Given the description of an element on the screen output the (x, y) to click on. 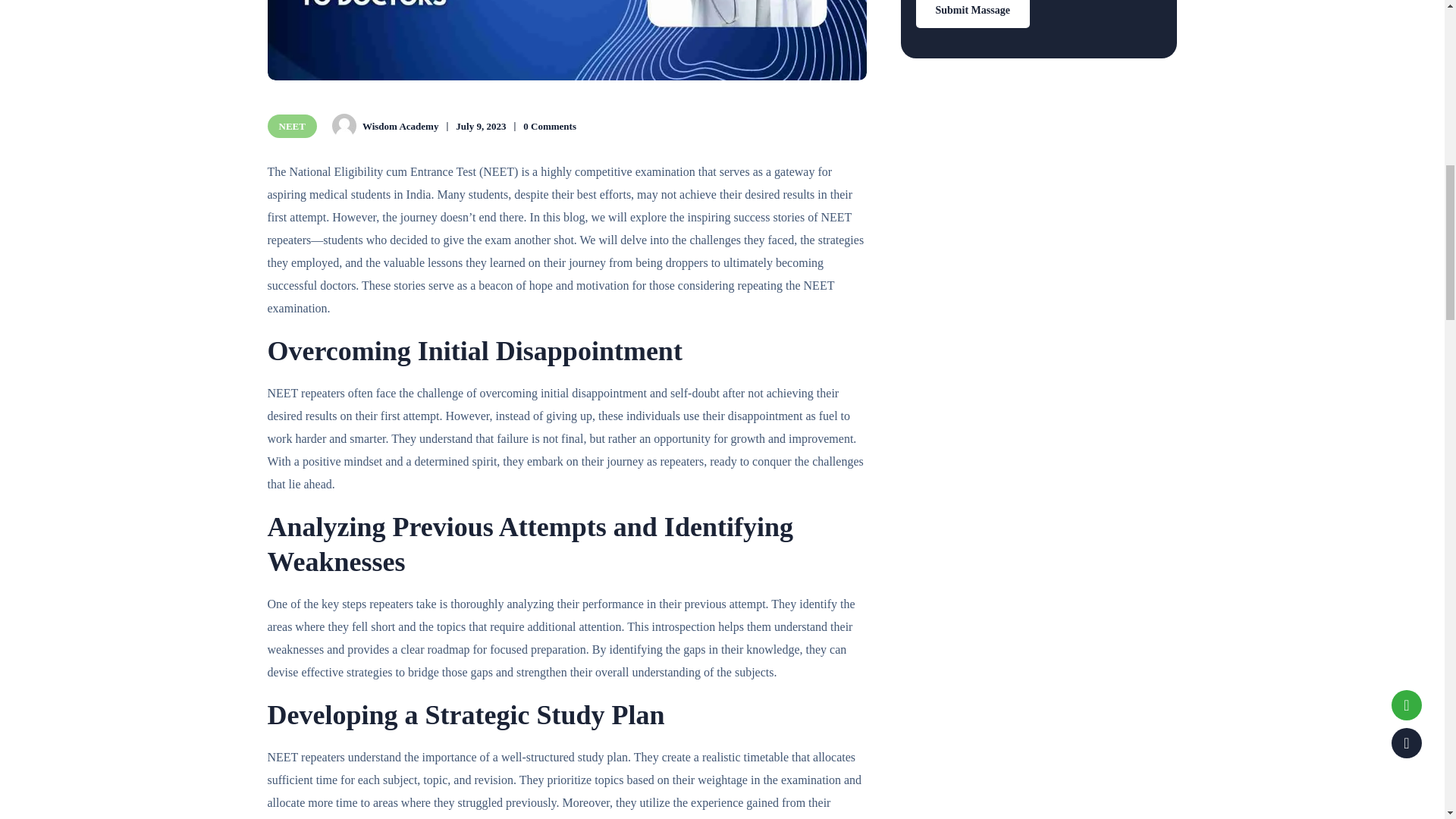
Leave a reply (549, 125)
Submit Massage (972, 13)
